Given the description of an element on the screen output the (x, y) to click on. 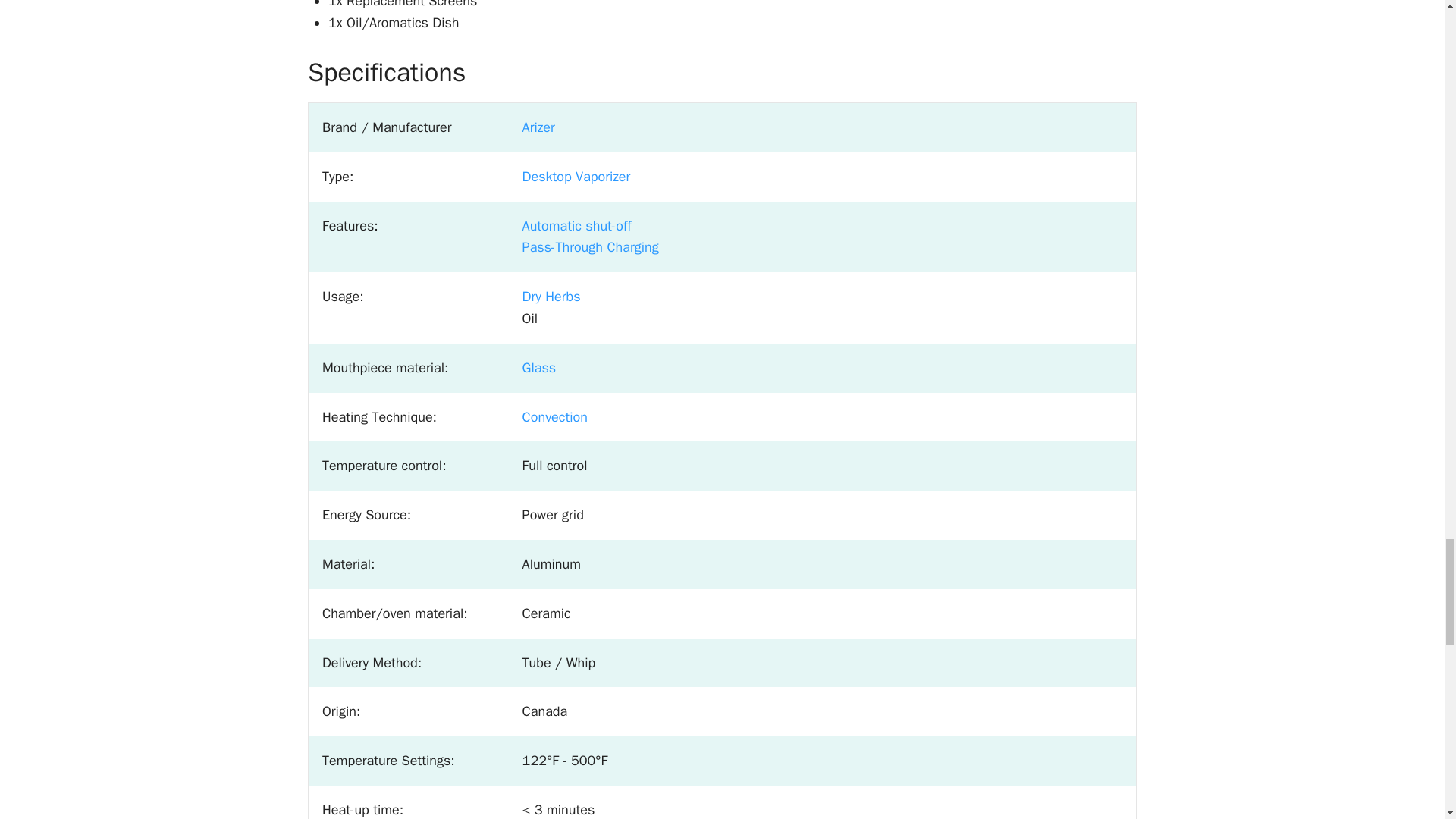
Show all: Vaporizers that automatically shut-off (576, 225)
Show all: Vaporizers with Pass-Through Charging (590, 247)
Show all: Vaporizers with a Glass Mouthpiece (539, 367)
Show all: Convection Vaporizers (555, 416)
Show all: Dry Herb Vaporizer (551, 296)
